Given the description of an element on the screen output the (x, y) to click on. 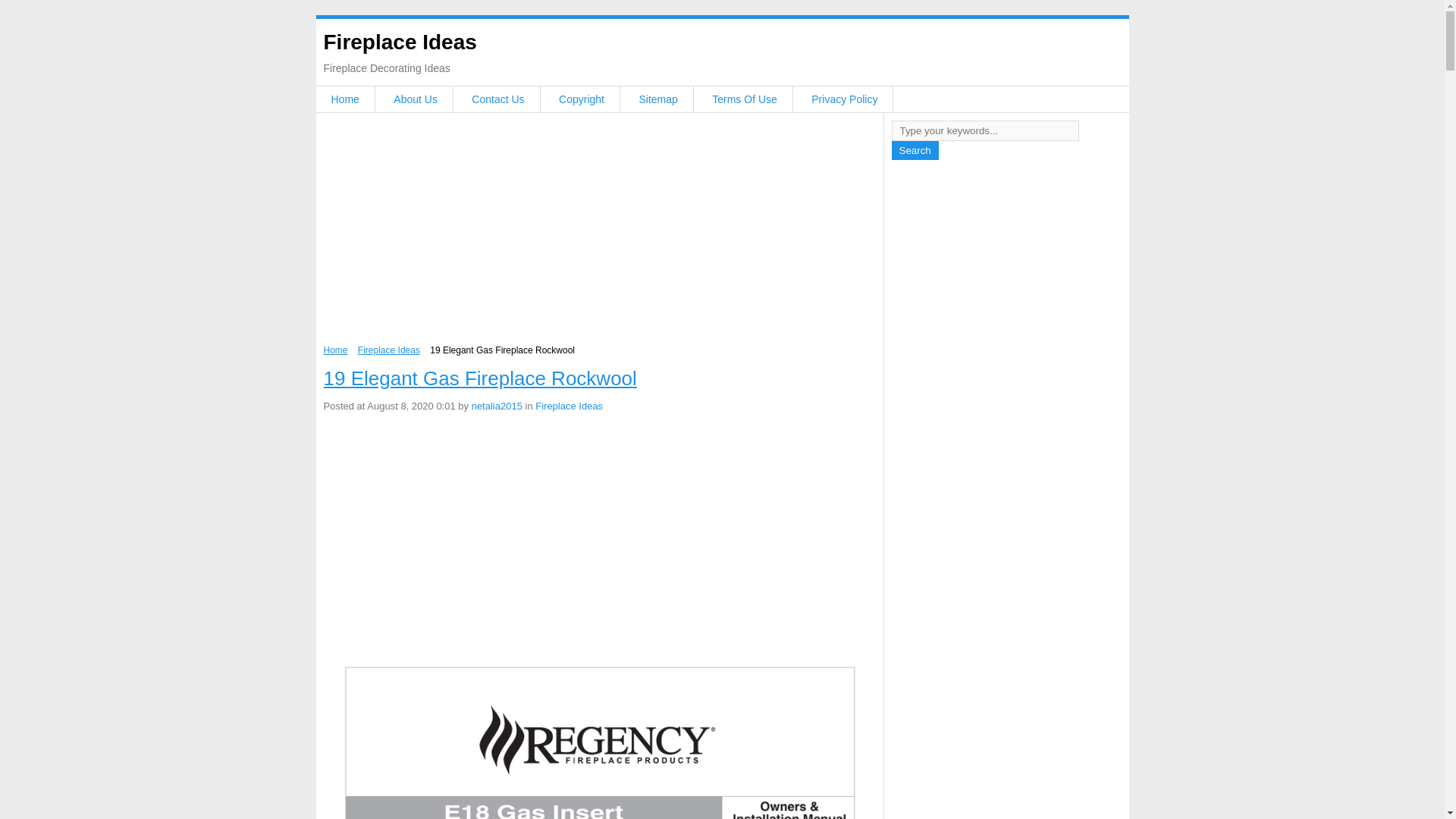
Fireplace Ideas (389, 349)
Advertisement (599, 232)
Contact Us (497, 99)
Privacy Policy (843, 99)
netalia2015 (496, 405)
Terms Of Use (744, 99)
19 Elegant Gas Fireplace Rockwool (479, 377)
Home (344, 99)
Home (335, 349)
Fireplace Ideas (399, 42)
